Given the description of an element on the screen output the (x, y) to click on. 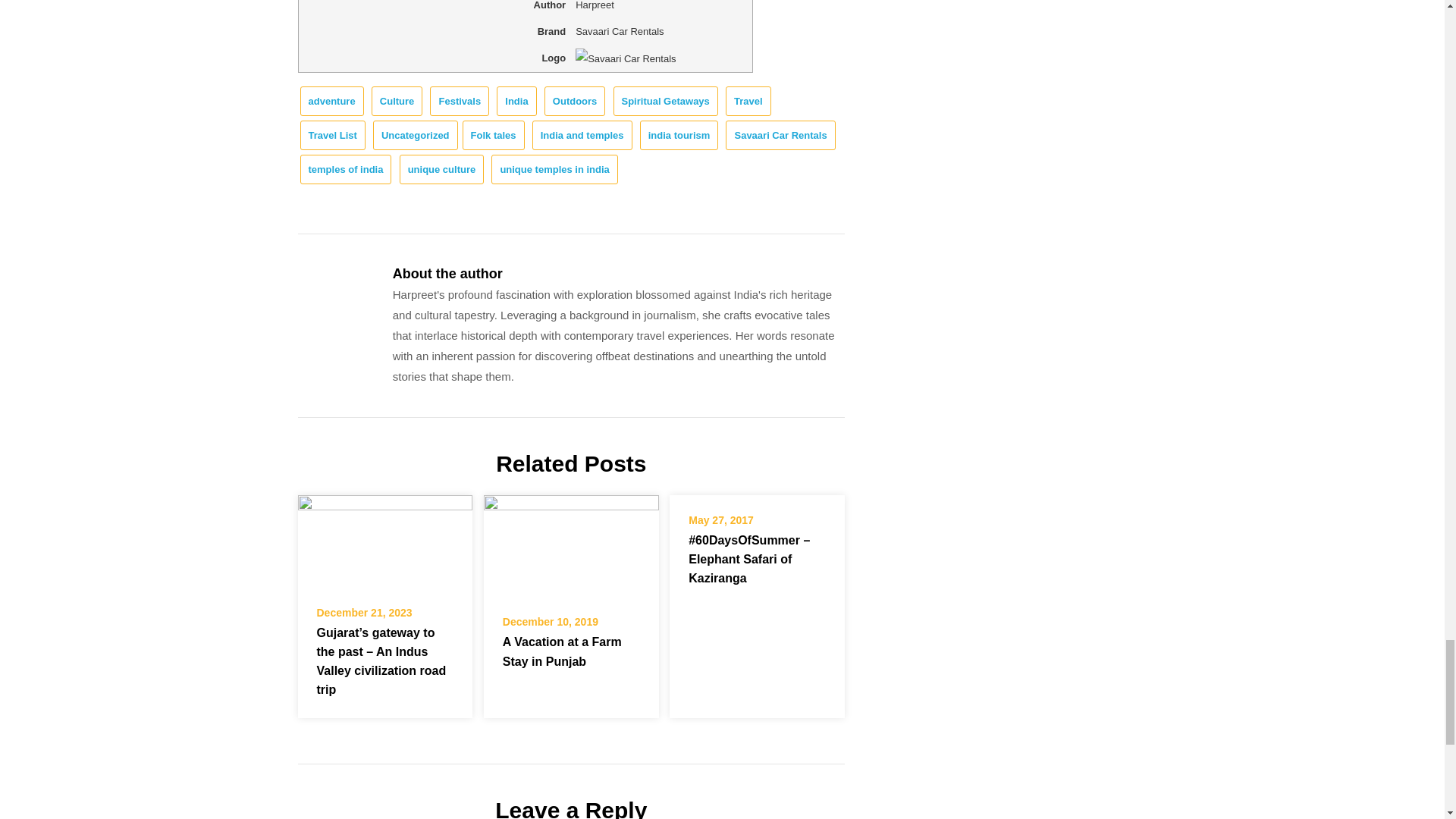
India (515, 101)
Festivals (459, 101)
Travel (748, 101)
Outdoors (574, 101)
adventure (331, 101)
Spiritual Getaways (664, 101)
Uncategorized (415, 134)
Travel List (332, 134)
Culture (397, 101)
A Vacation at a Farm Stay in Punjab (571, 544)
